Given the description of an element on the screen output the (x, y) to click on. 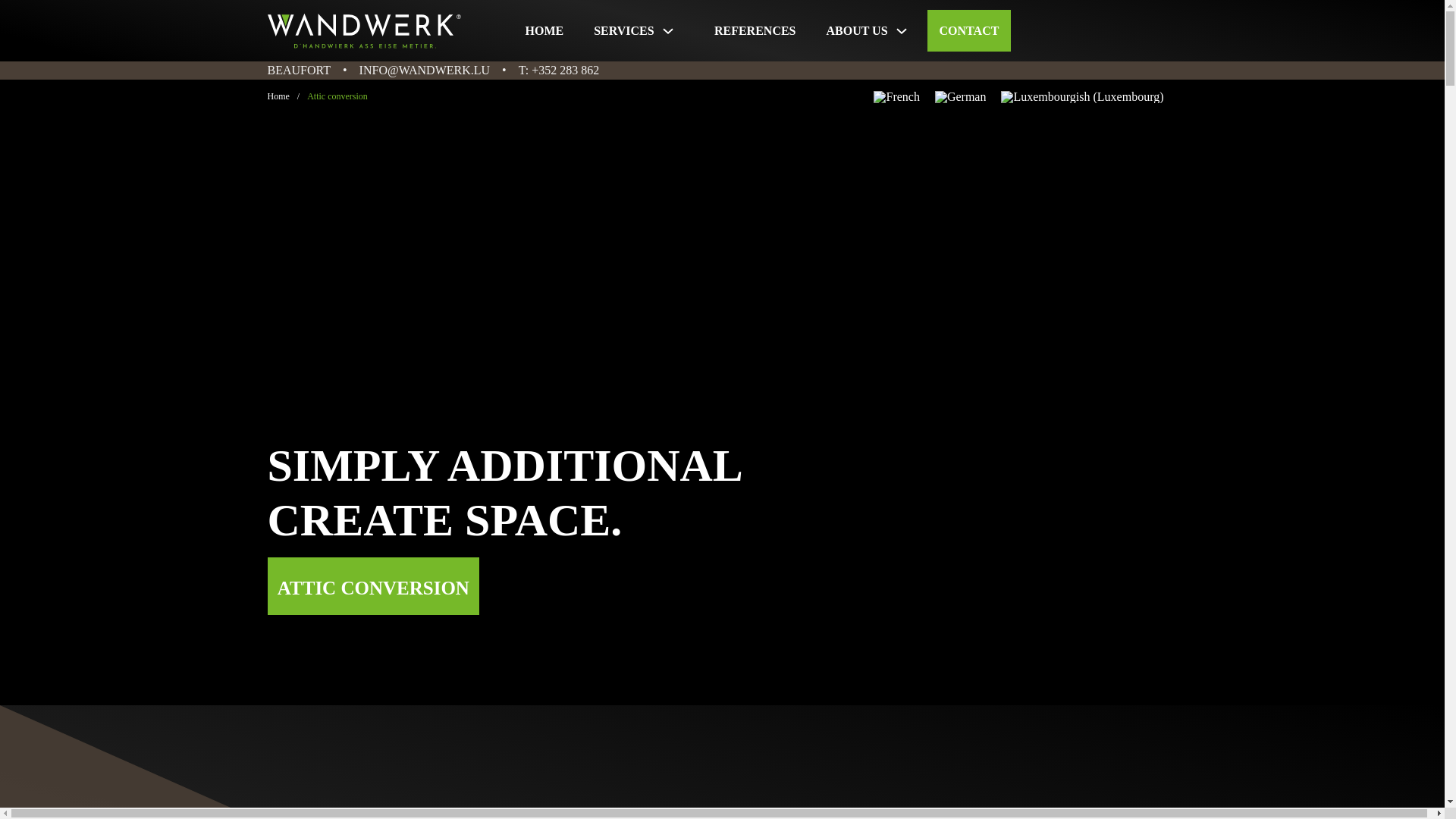
ABOUT US (855, 31)
CONTACT (968, 30)
SERVICES (623, 31)
HOME (544, 30)
REFERENCES (754, 30)
